Given the description of an element on the screen output the (x, y) to click on. 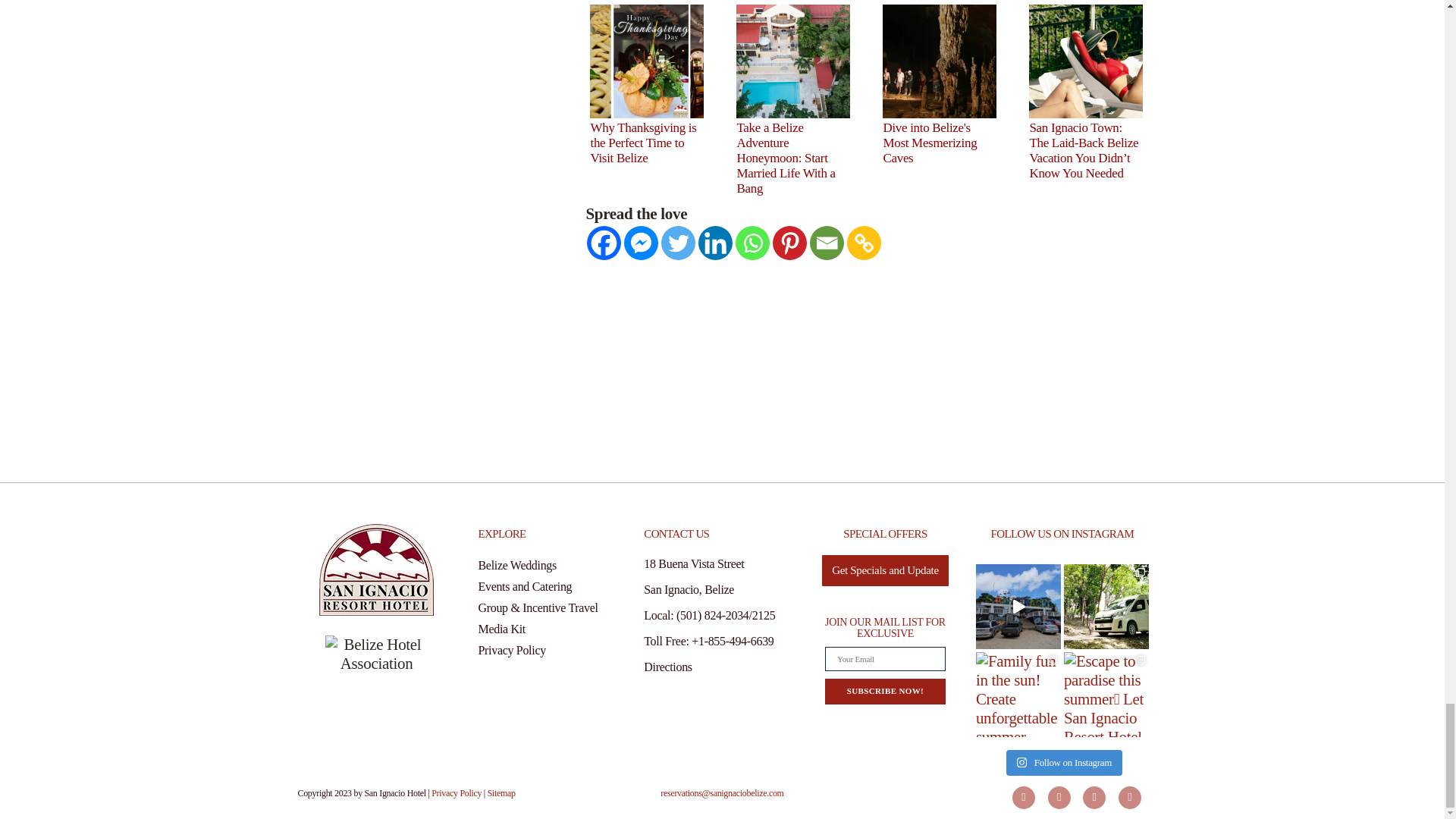
SUBSCRIBE NOW! (884, 690)
